Given the description of an element on the screen output the (x, y) to click on. 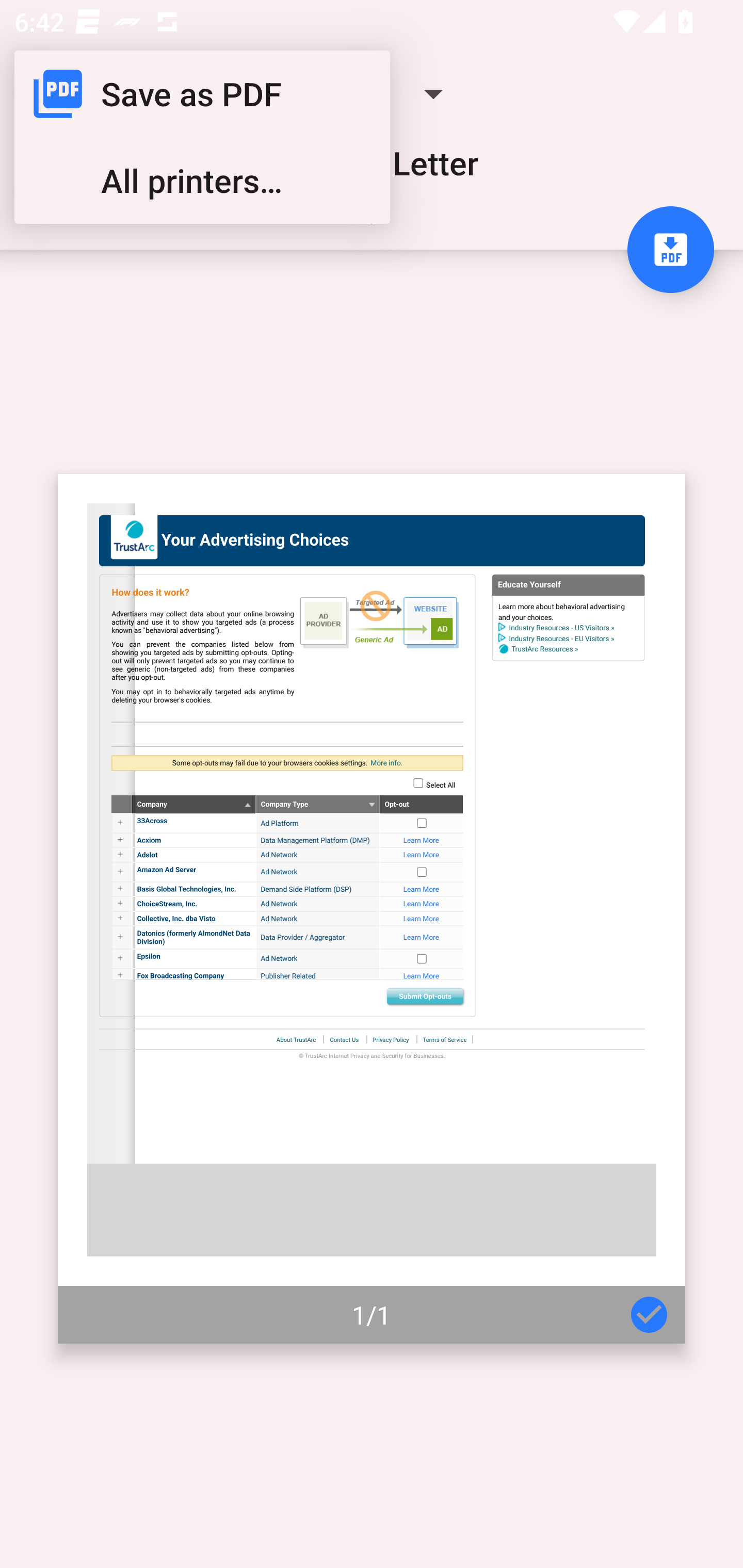
Save as PDF (202, 93)
All printers… (202, 180)
